Given the description of an element on the screen output the (x, y) to click on. 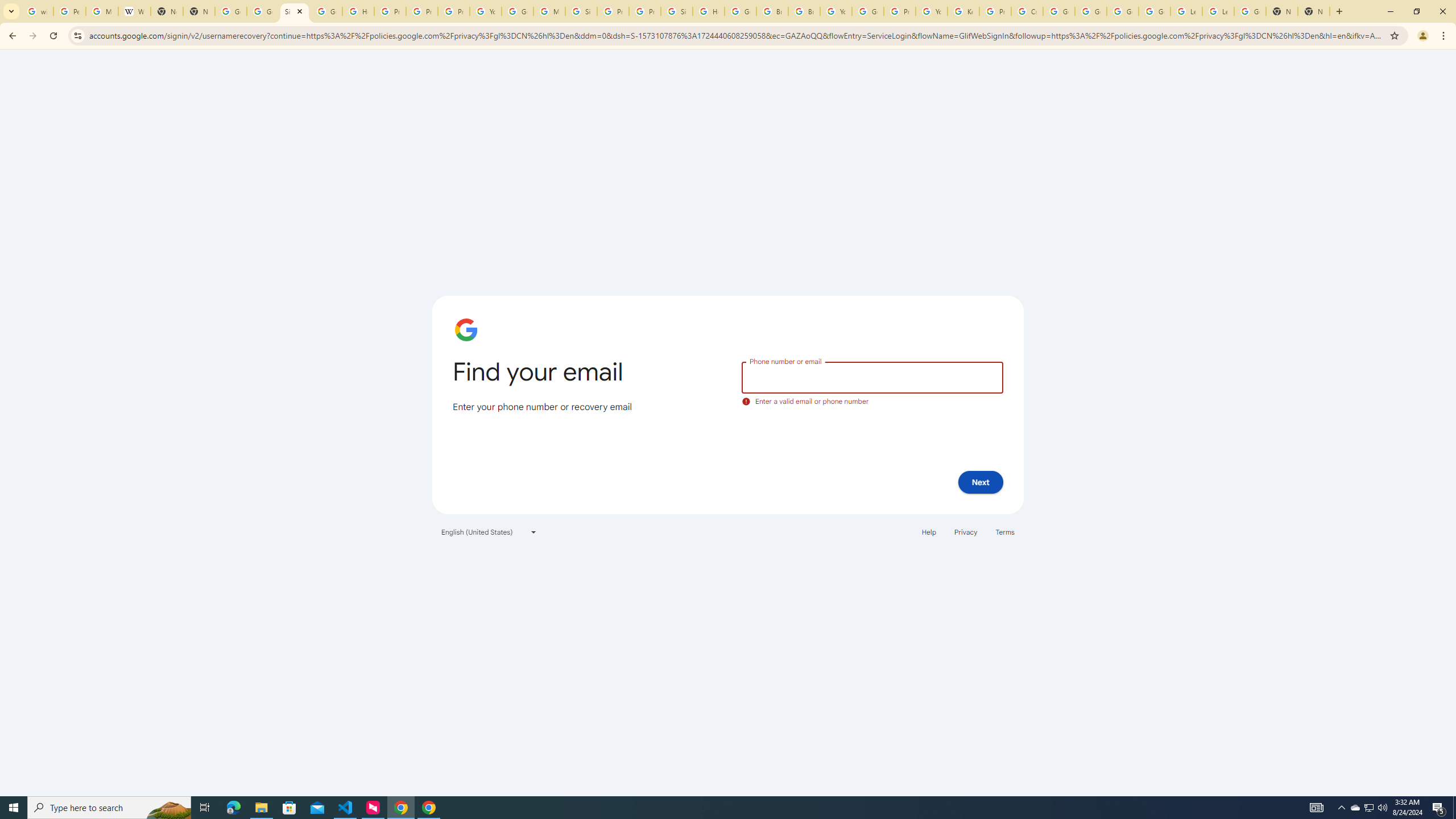
Personalization & Google Search results - Google Search Help (69, 11)
Google Account Help (517, 11)
Google Account Help (868, 11)
Google Drive: Sign-in (262, 11)
New Tab (1281, 11)
Google Account Help (1154, 11)
YouTube (931, 11)
